Given the description of an element on the screen output the (x, y) to click on. 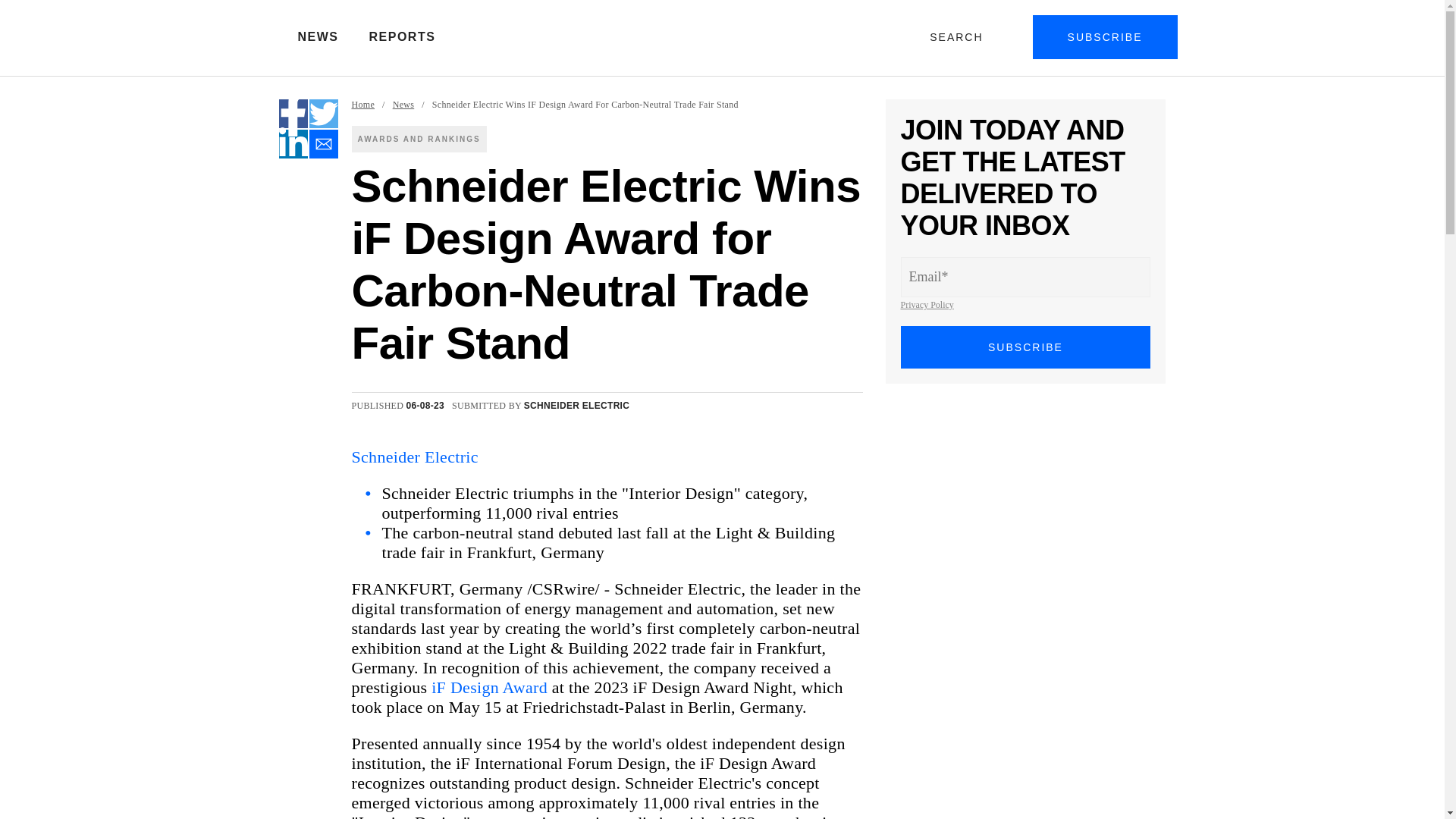
SEARCH (959, 36)
Facebook (293, 113)
News (403, 104)
Home (363, 104)
Privacy Policy (927, 304)
Twitter (322, 113)
AWARDS AND RANKINGS (419, 139)
SUBSCRIBE (1026, 346)
Schneider Electric (415, 456)
iF Design Award (488, 687)
